Given the description of an element on the screen output the (x, y) to click on. 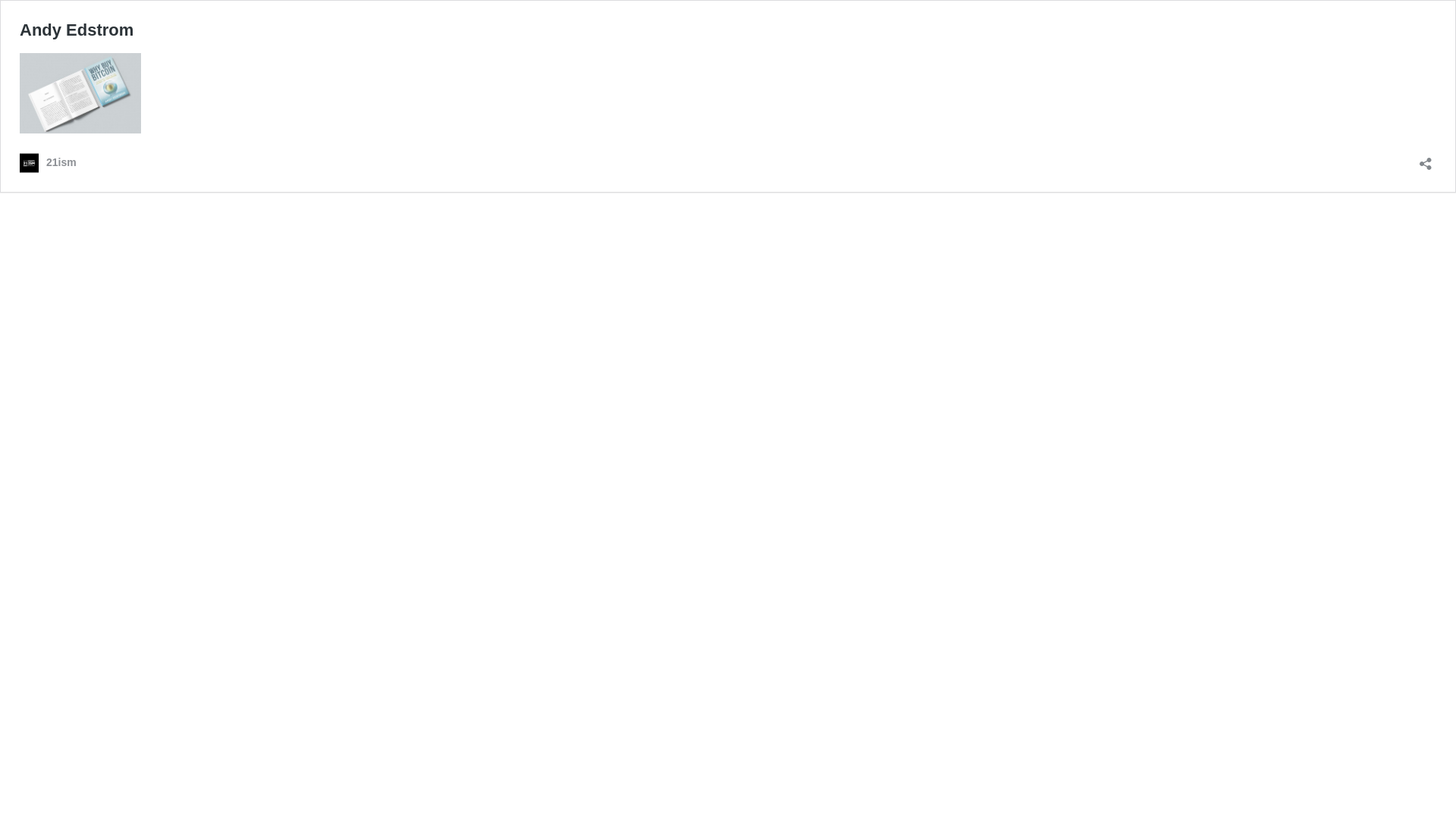
Andy Edstrom Element type: text (76, 29)
21ism Element type: text (47, 162)
